Given the description of an element on the screen output the (x, y) to click on. 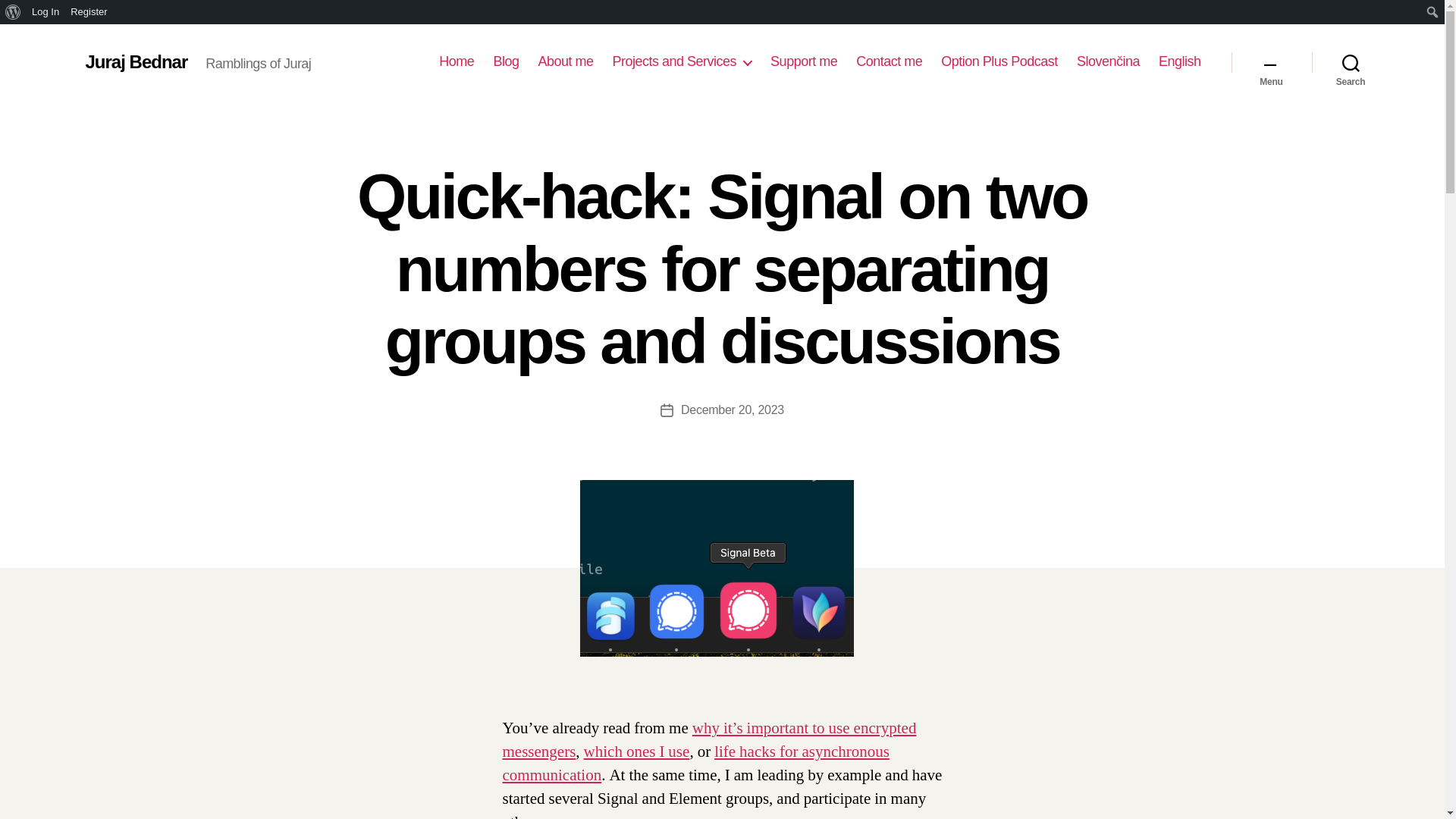
Register (89, 12)
About me (564, 62)
English (1179, 62)
Support me (803, 62)
Menu (1271, 61)
Search (1350, 61)
Option Plus Podcast (999, 62)
Home (456, 62)
Projects and Services (682, 62)
Blog (505, 62)
Search (15, 12)
Log In (45, 12)
Contact me (888, 62)
Juraj Bednar (135, 62)
